Given the description of an element on the screen output the (x, y) to click on. 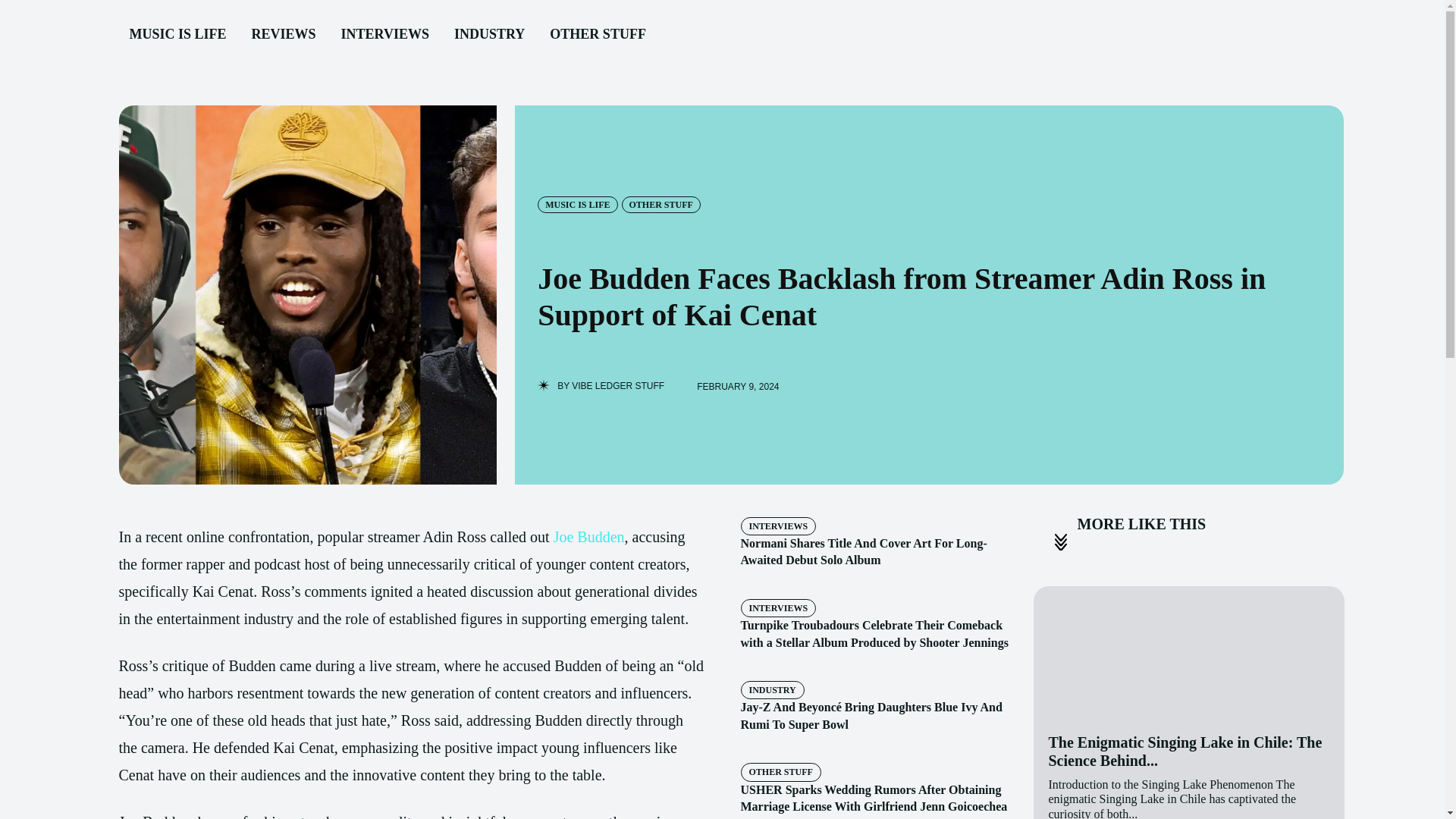
INTERVIEWS (777, 525)
MUSIC IS LIFE (176, 34)
Joe Budden (588, 536)
OTHER STUFF (780, 771)
OTHER STUFF (660, 204)
